Given the description of an element on the screen output the (x, y) to click on. 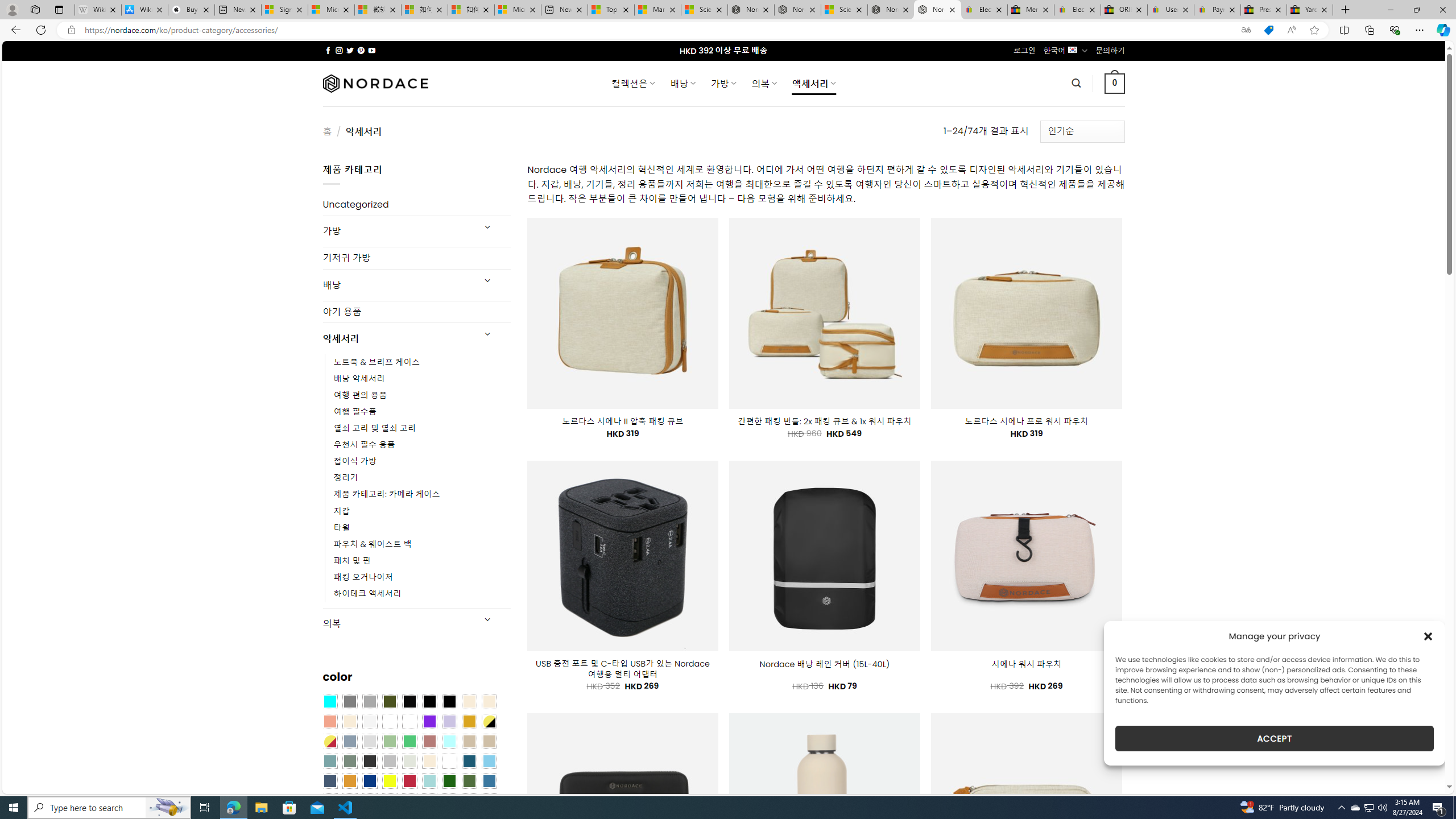
Class: cmplz-close (1428, 636)
